Given the description of an element on the screen output the (x, y) to click on. 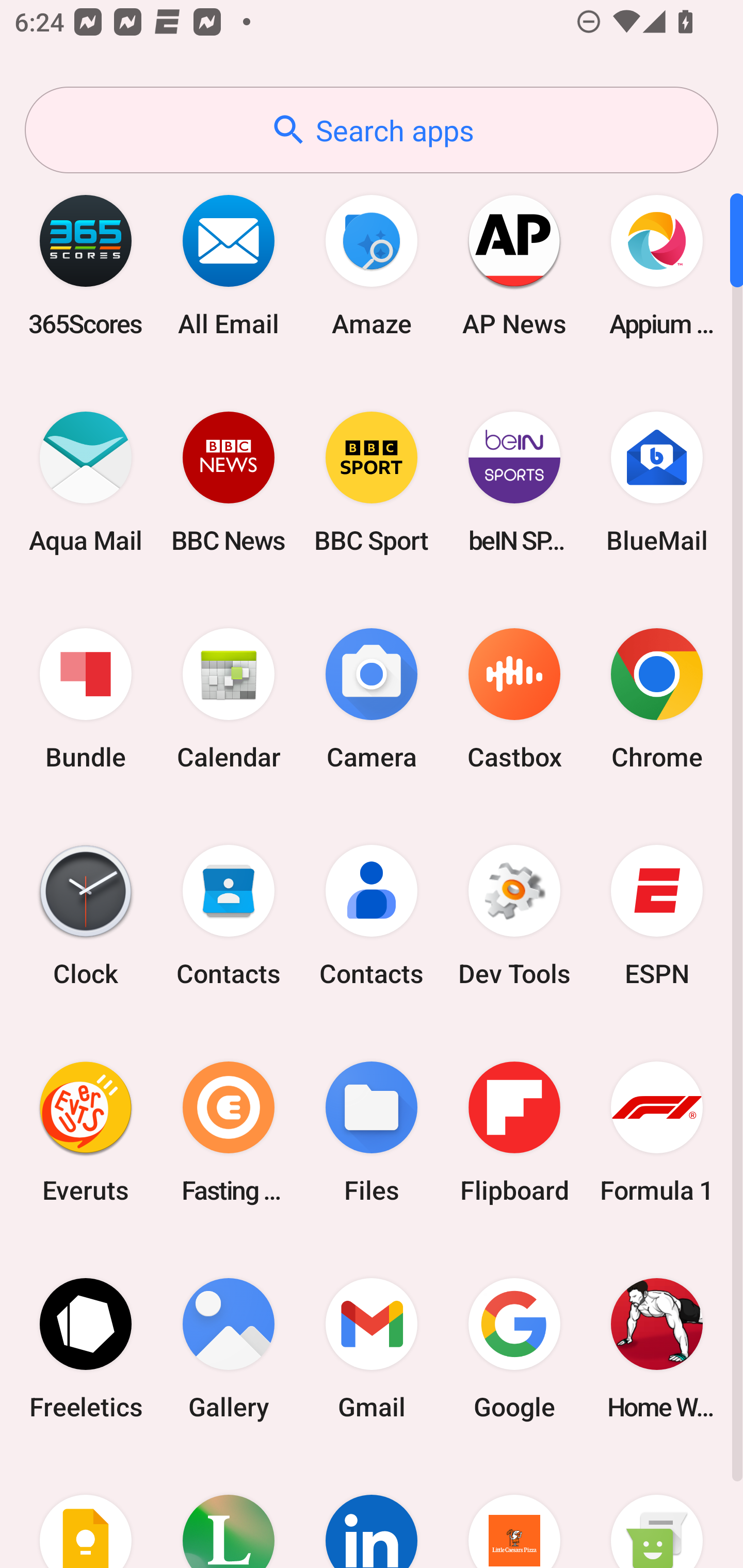
  Search apps (371, 130)
365Scores (85, 264)
All Email (228, 264)
Amaze (371, 264)
AP News (514, 264)
Appium Settings (656, 264)
Aqua Mail (85, 482)
BBC News (228, 482)
BBC Sport (371, 482)
beIN SPORTS (514, 482)
BlueMail (656, 482)
Bundle (85, 699)
Calendar (228, 699)
Camera (371, 699)
Castbox (514, 699)
Chrome (656, 699)
Clock (85, 915)
Contacts (228, 915)
Contacts (371, 915)
Dev Tools (514, 915)
ESPN (656, 915)
Everuts (85, 1131)
Fasting Coach (228, 1131)
Files (371, 1131)
Flipboard (514, 1131)
Formula 1 (656, 1131)
Freeletics (85, 1348)
Gallery (228, 1348)
Gmail (371, 1348)
Google (514, 1348)
Home Workout (656, 1348)
